Given the description of an element on the screen output the (x, y) to click on. 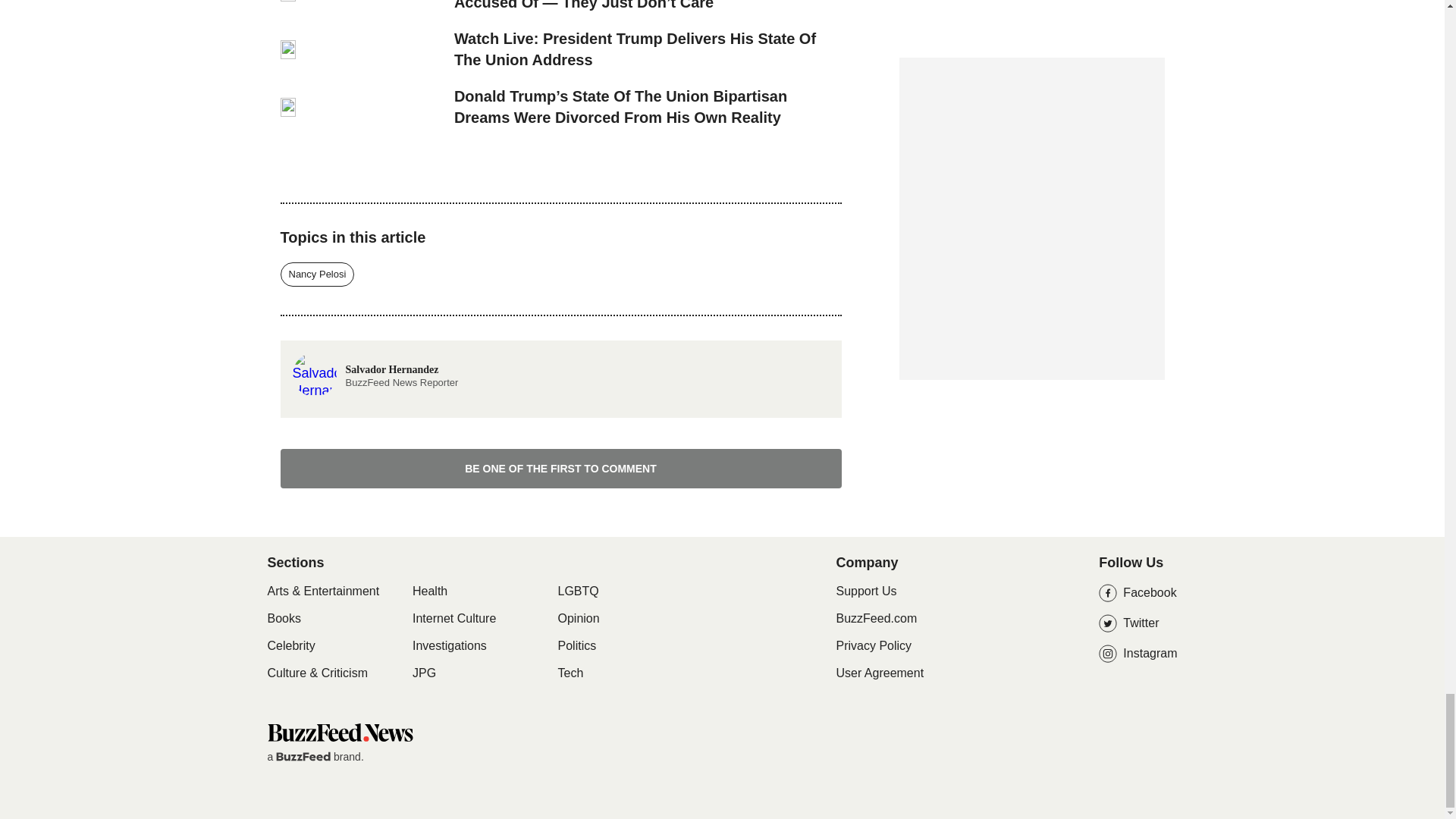
BuzzFeed (303, 756)
BuzzFeed News Home (339, 732)
